Given the description of an element on the screen output the (x, y) to click on. 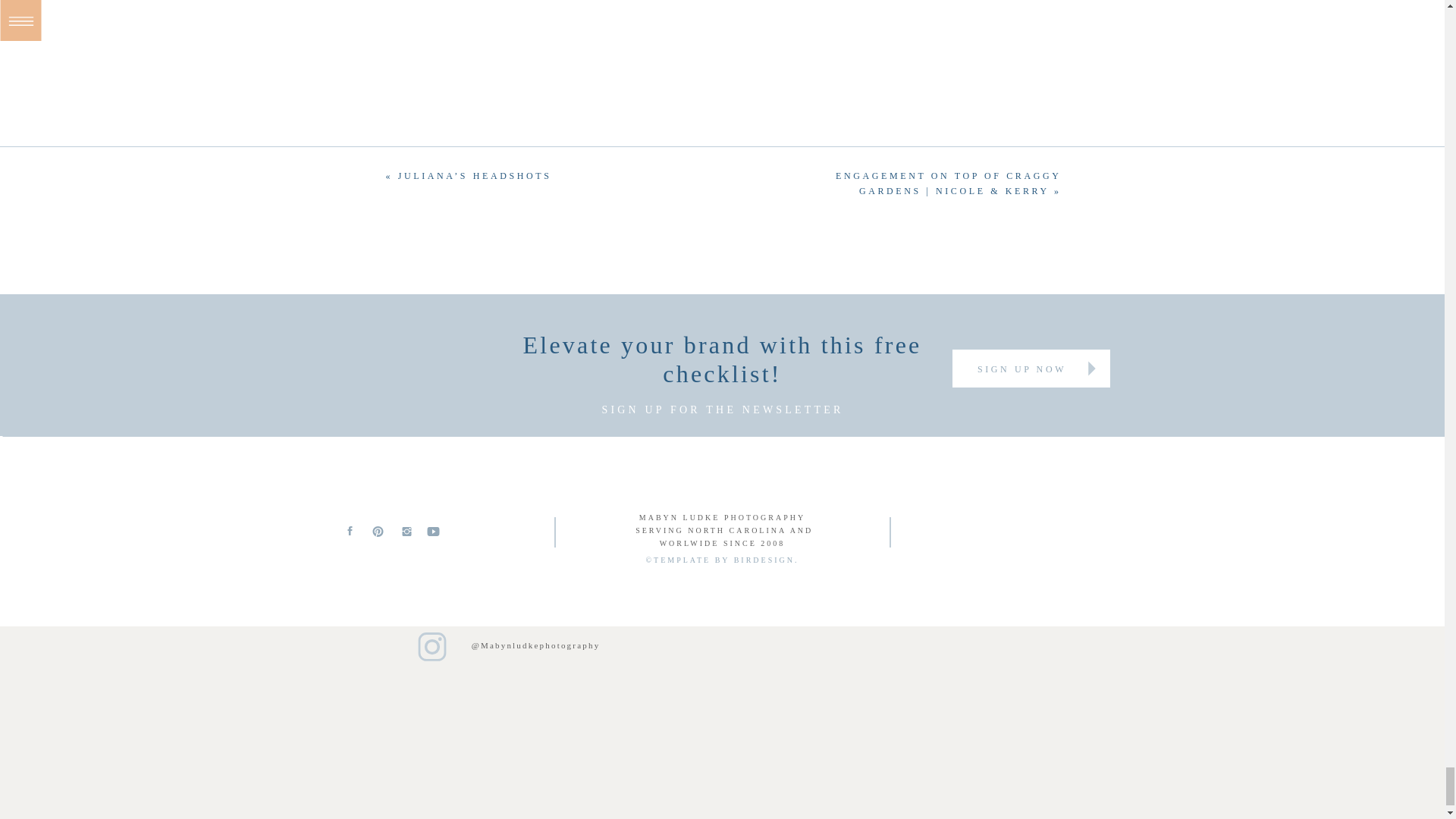
BIRDESIGN (763, 560)
SIGN UP NOW (1021, 368)
